Given the description of an element on the screen output the (x, y) to click on. 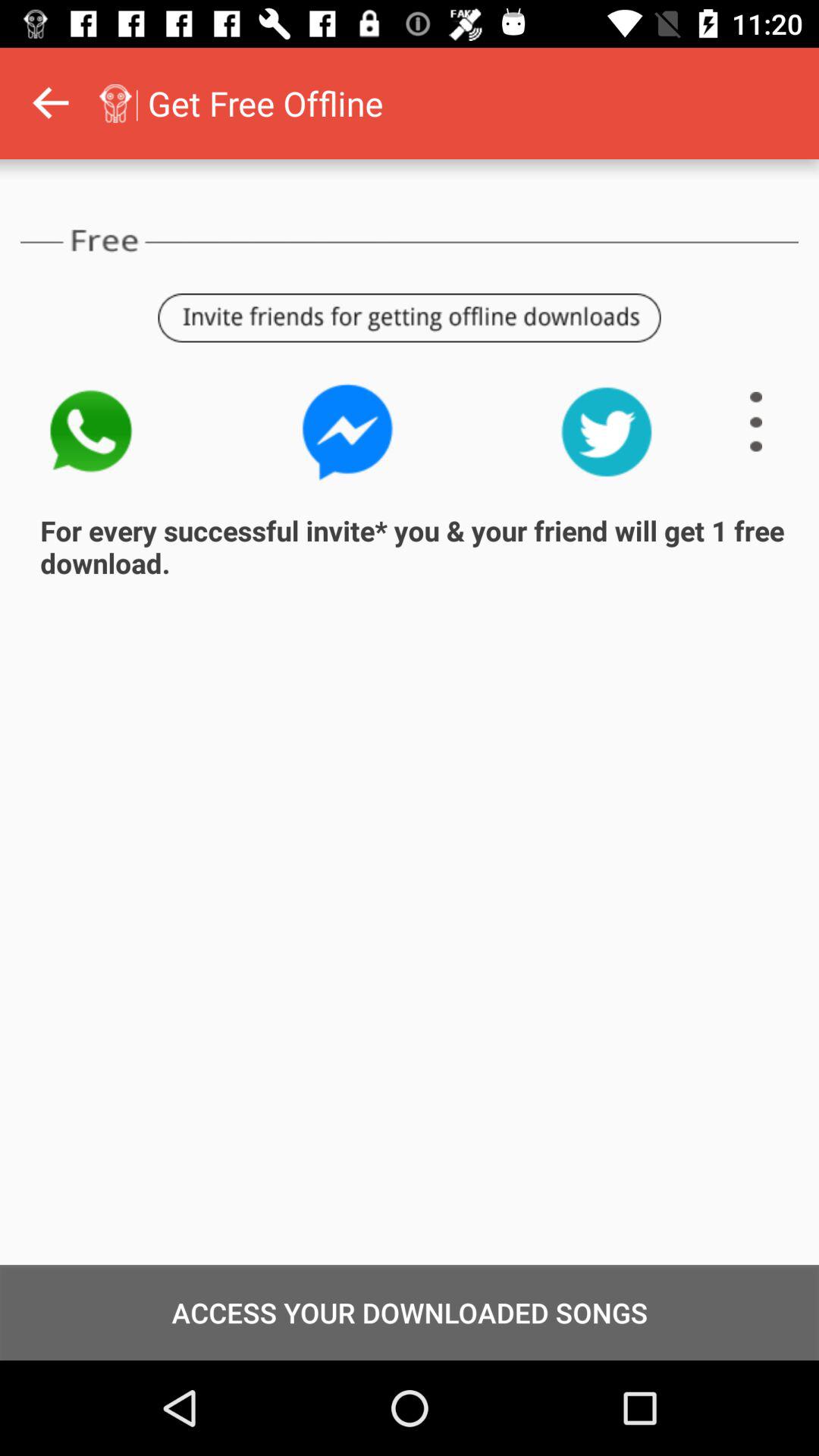
click item above the for every successful item (606, 431)
